Given the description of an element on the screen output the (x, y) to click on. 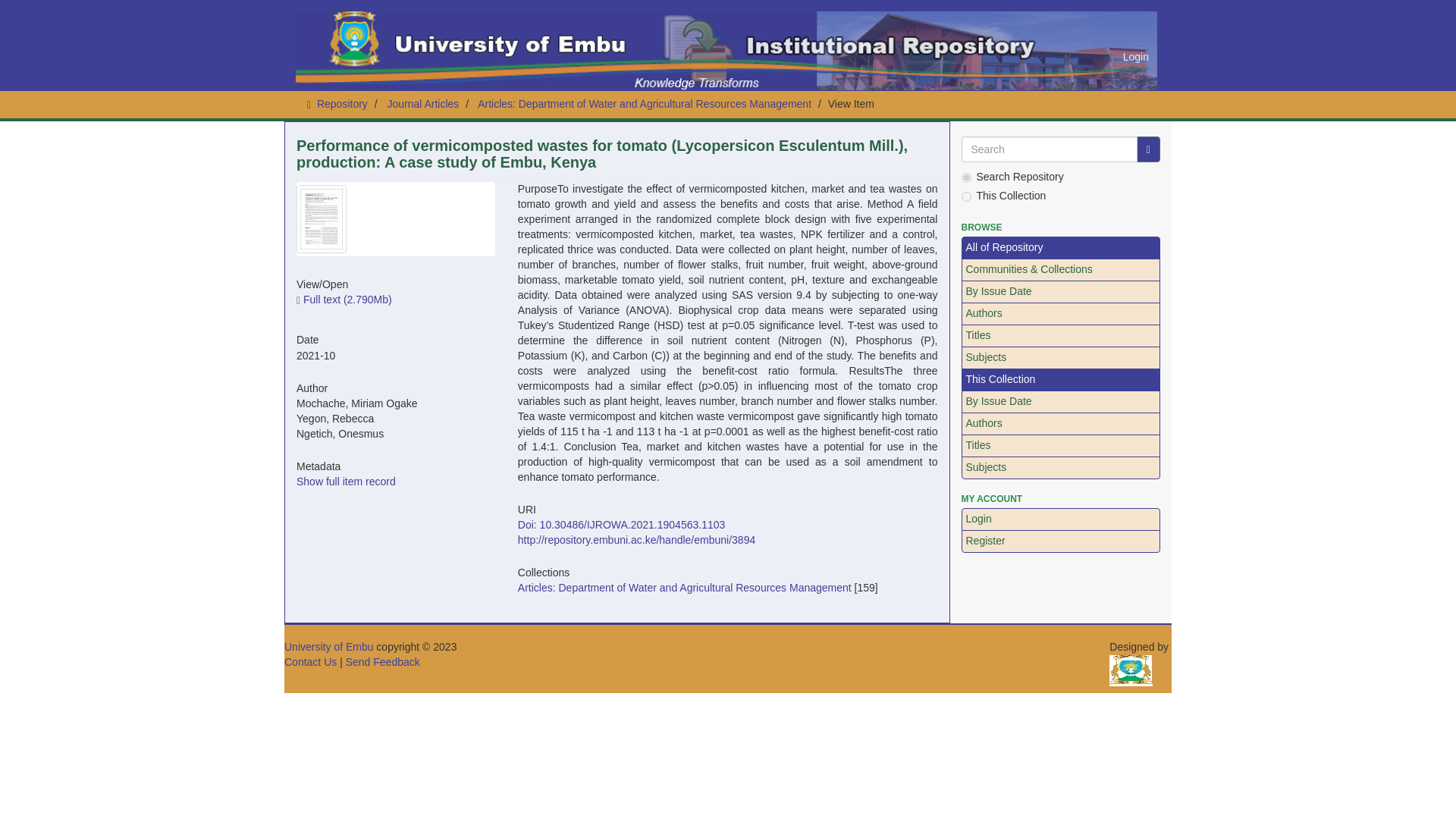
This Collection (1060, 379)
Login (1136, 56)
Titles (1060, 445)
Go (1148, 149)
By Issue Date (1060, 401)
Titles (1060, 335)
University of Embu (327, 646)
Subjects (1060, 357)
By Issue Date (1060, 291)
Prof. Magoha Library (1131, 670)
